Given the description of an element on the screen output the (x, y) to click on. 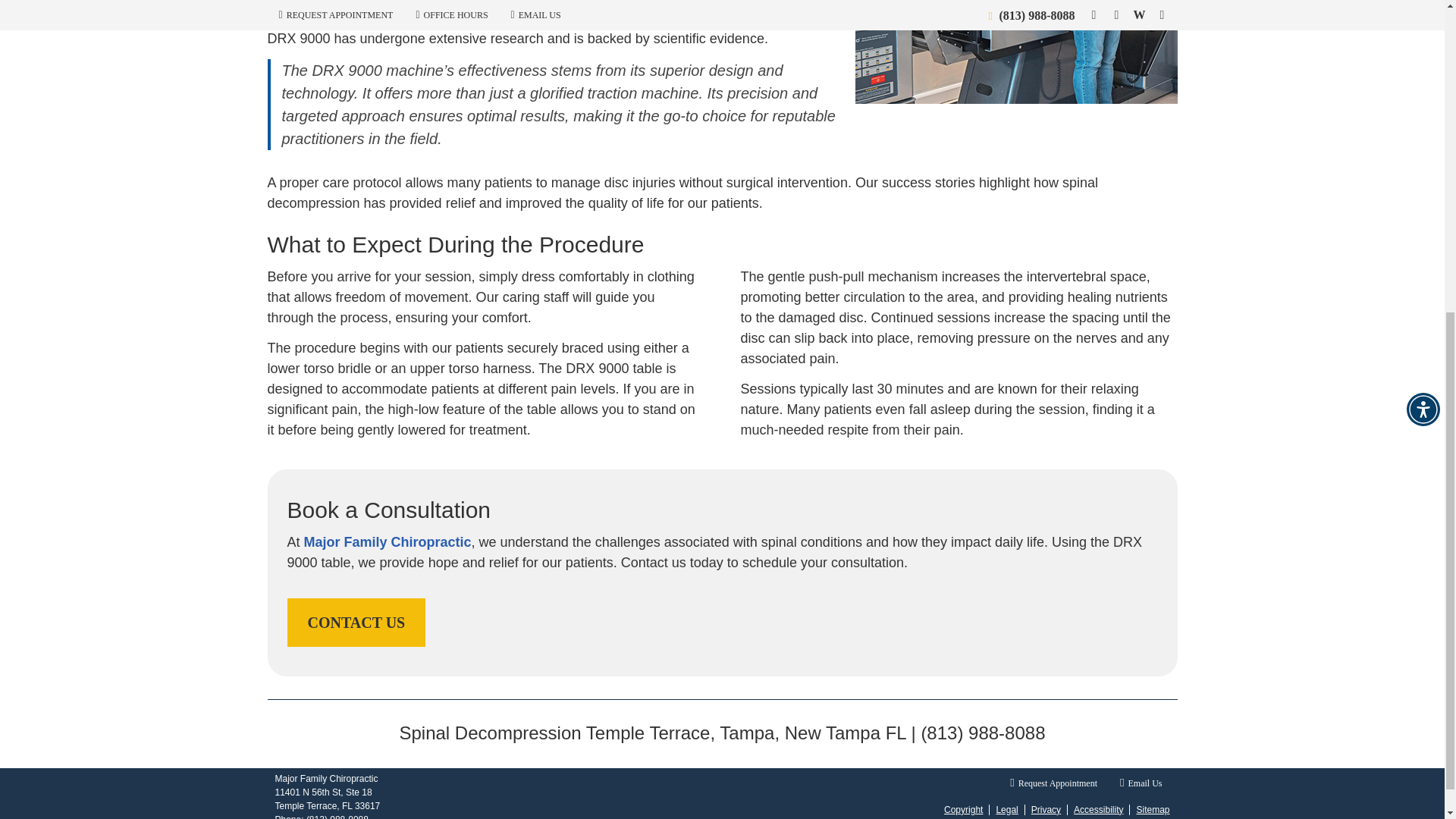
Legal (1007, 809)
Contact (1140, 782)
Major Family Chiropractic (387, 541)
Privacy (1046, 809)
CONTACT US (355, 622)
Copyright (963, 809)
Email Us (1140, 782)
Request Appointment (1054, 782)
